Given the description of an element on the screen output the (x, y) to click on. 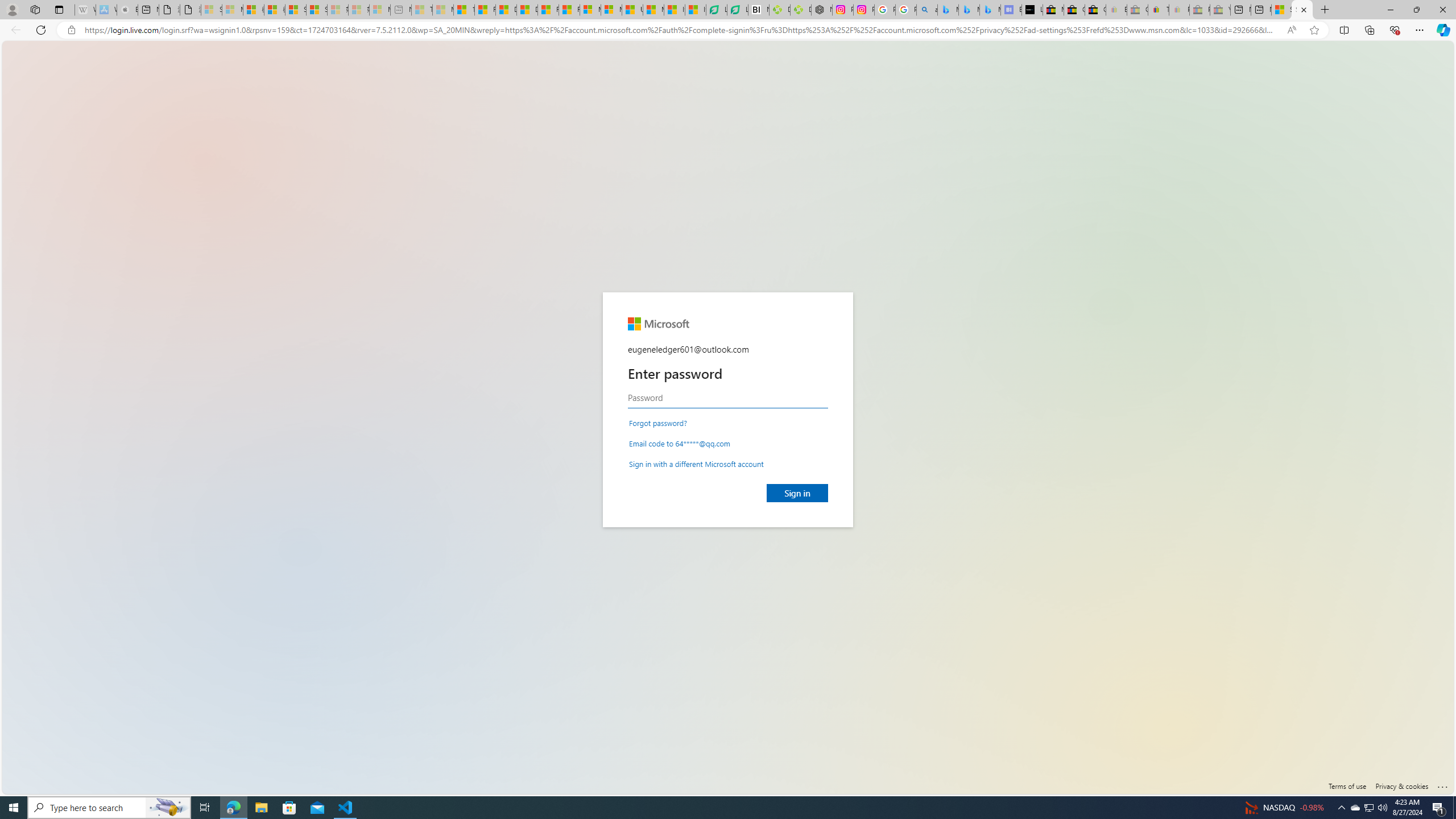
Sign in with a different Microsoft account (696, 463)
Payments Terms of Use | eBay.com - Sleeping (1178, 9)
Shanghai, China hourly forecast | Microsoft Weather (1281, 9)
Food and Drink - MSN (485, 9)
Microsoft Bing Travel - Flights from Hong Kong to Bangkok (948, 9)
